Given the description of an element on the screen output the (x, y) to click on. 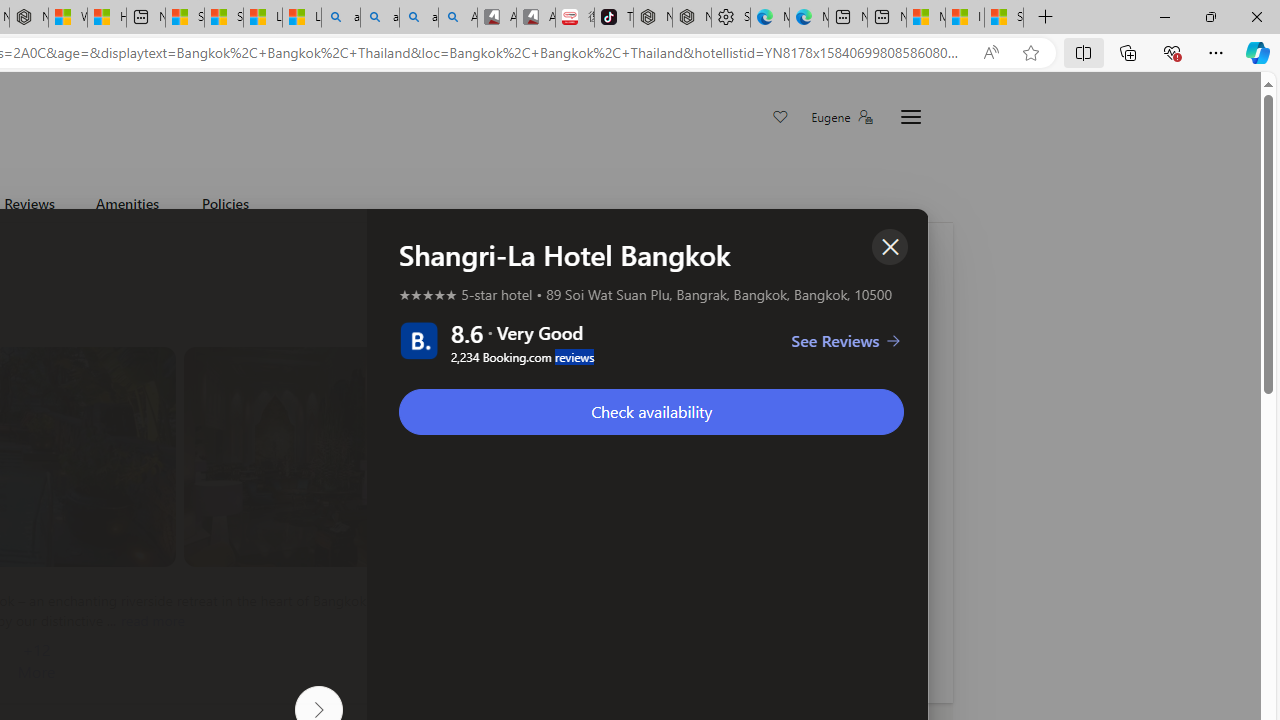
Amazon Echo Robot - Search Images (458, 17)
Nordace - Best Sellers (652, 17)
All Cubot phones (536, 17)
Nordace Siena Pro 15 Backpack (691, 17)
amazon - Search Images (418, 17)
